Given the description of an element on the screen output the (x, y) to click on. 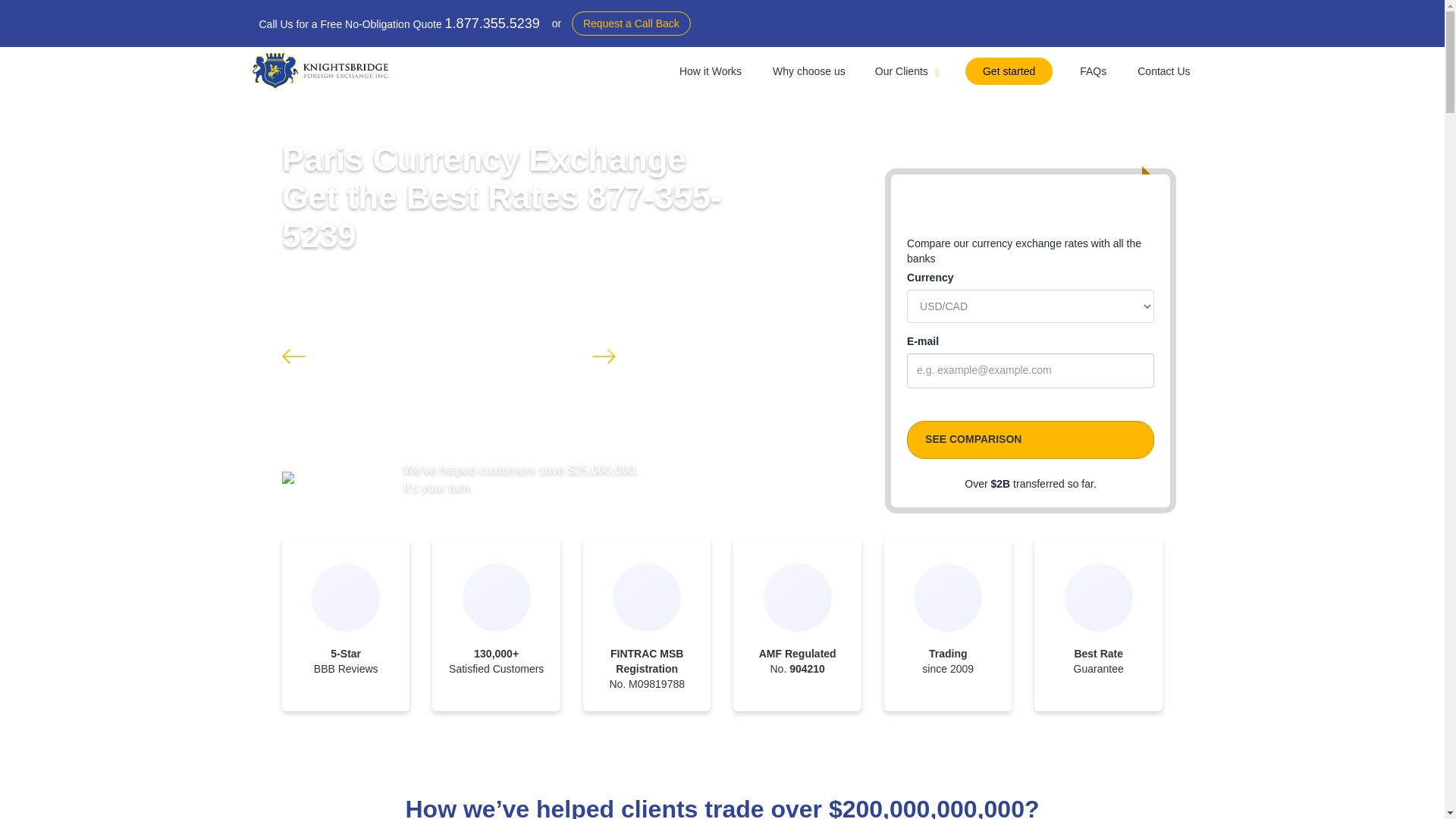
SEE COMPARISON (1030, 439)
Contact Us (1163, 70)
Request a Call Back (631, 23)
How it Works (710, 70)
Get started (1008, 71)
Why choose us (808, 70)
1.877.355.5239 (492, 23)
FAQs (1092, 70)
Our Clients (907, 71)
